Given the description of an element on the screen output the (x, y) to click on. 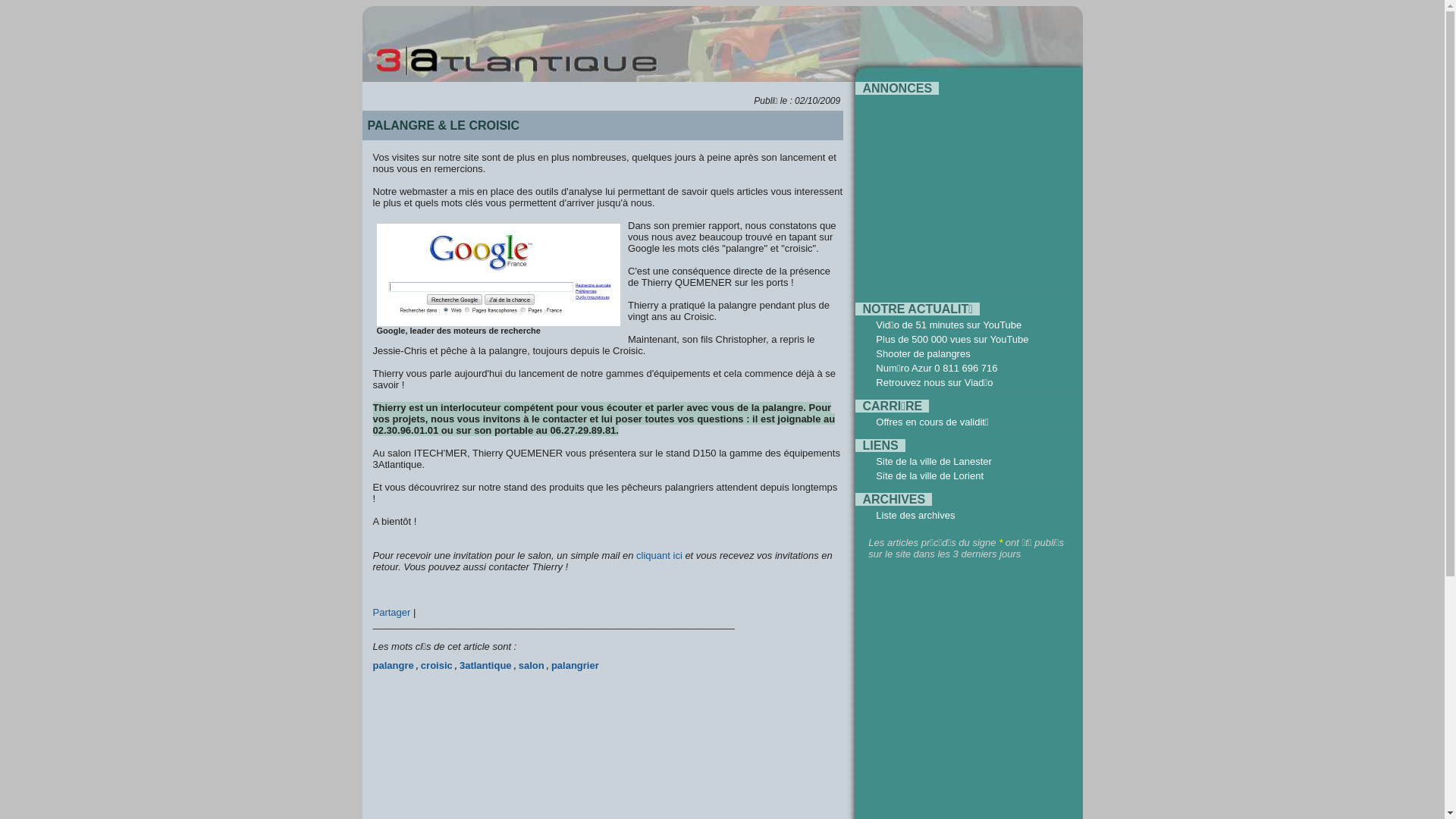
3atlantique Element type: text (485, 665)
Site de la ville de Lanester Element type: text (933, 461)
Shooter de palangres Element type: text (922, 353)
Advertisement Element type: hover (962, 193)
salon Element type: text (531, 665)
croisic Element type: text (436, 665)
cliquant ici Element type: text (659, 555)
palangrier Element type: text (575, 665)
palangre Element type: text (393, 665)
Liste des archives Element type: text (914, 514)
Site de la ville de Lorient Element type: text (929, 475)
Plus de 500 000 vues sur YouTube Element type: text (951, 339)
Partager Element type: text (393, 612)
